Given the description of an element on the screen output the (x, y) to click on. 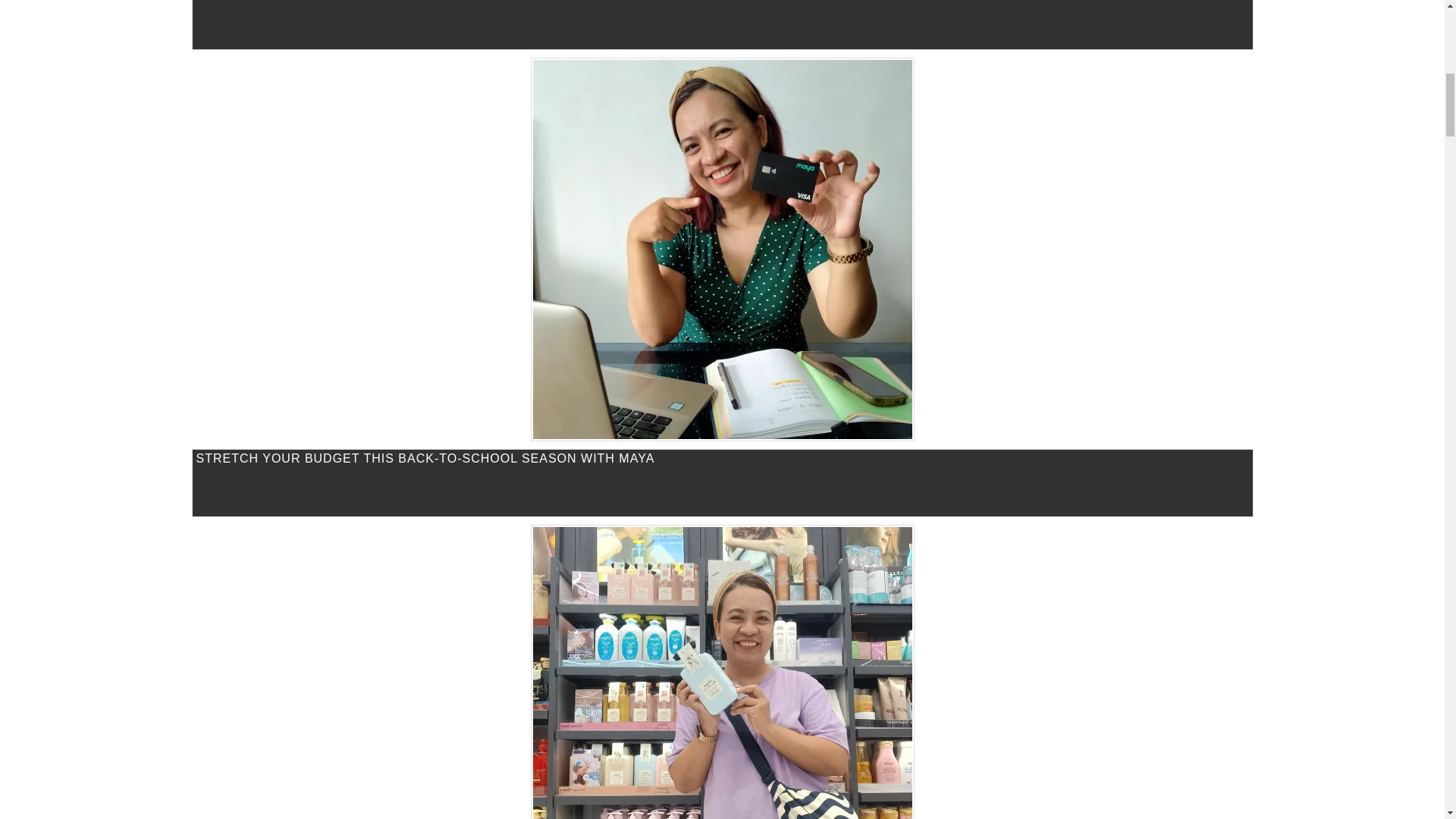
OUR JOURNEY: VISITING 8 SCHOOLS TO FIND THE PERFECT FIT! (721, 24)
STRETCH YOUR BUDGET THIS BACK-TO-SCHOOL SEASON WITH MAYA (721, 482)
